Given the description of an element on the screen output the (x, y) to click on. 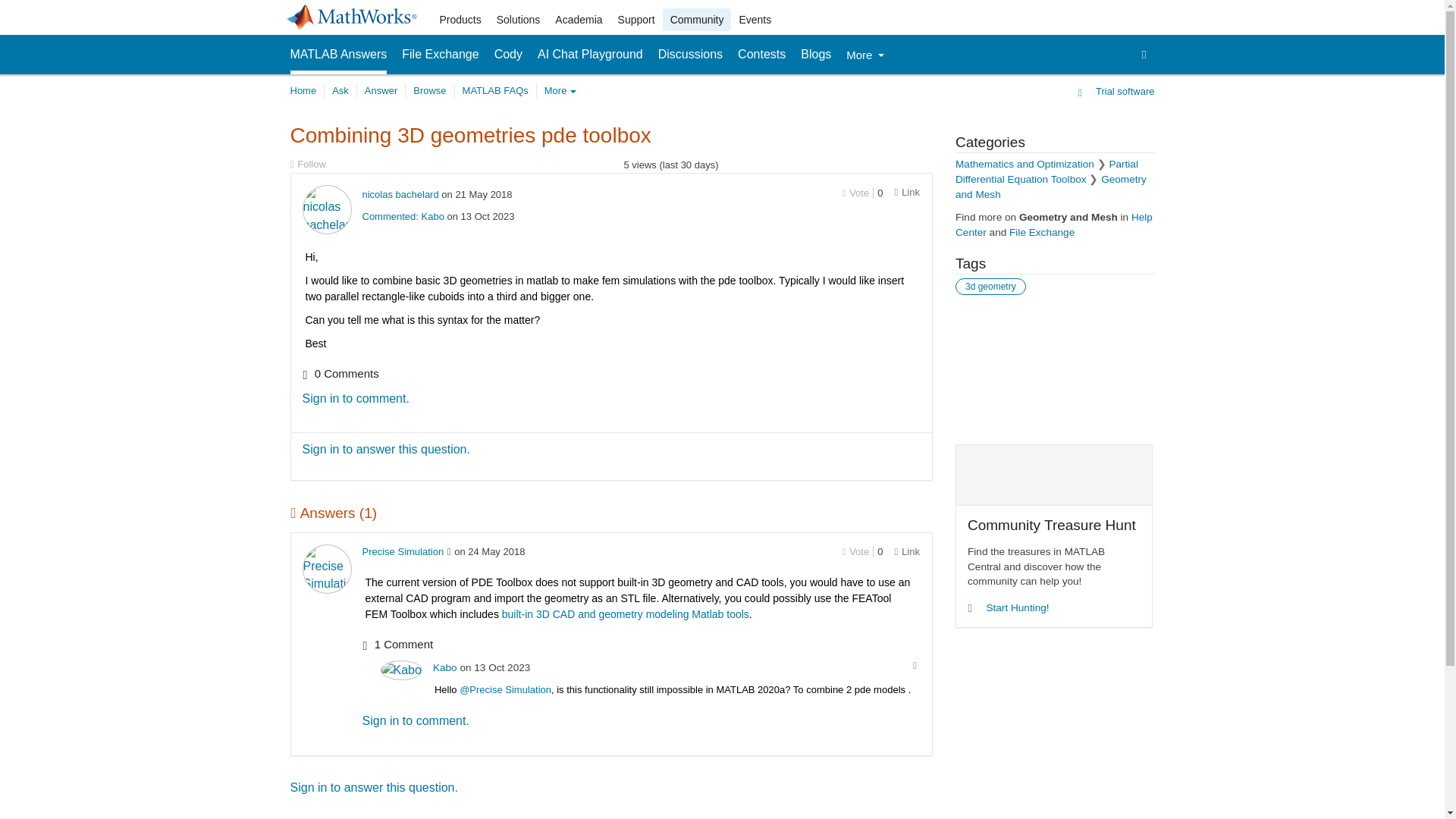
Products (460, 19)
AI Chat Playground (590, 54)
Events (754, 19)
Direct link to this answer (906, 551)
Solutions (518, 19)
Sign in to vote for questions and answers (855, 193)
Academia (578, 19)
More (864, 54)
File Exchange (440, 54)
Sign in to vote for questions and answers (855, 551)
